Given the description of an element on the screen output the (x, y) to click on. 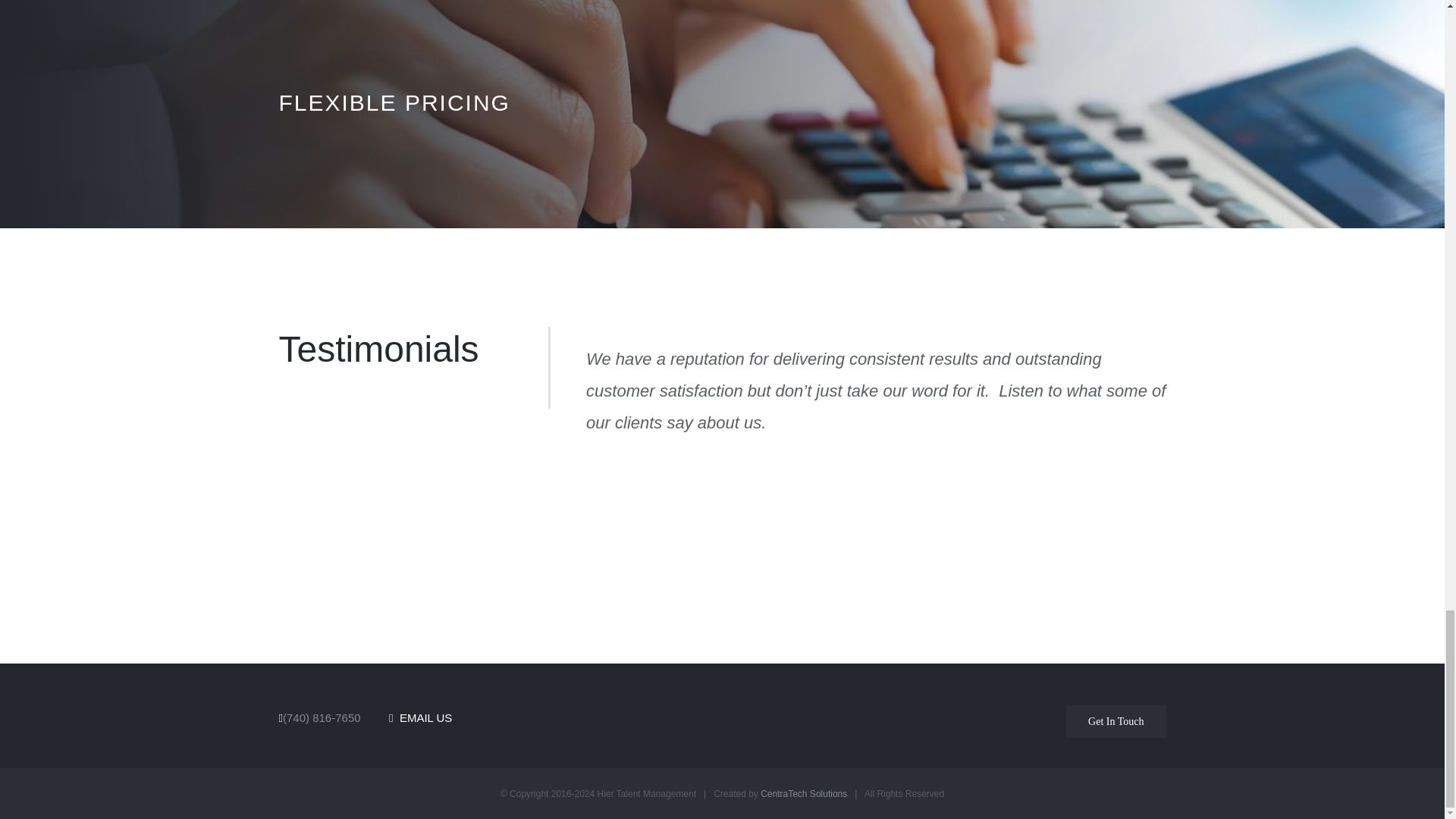
  EMAIL US (419, 717)
Get In Touch (1115, 721)
CentraTech Solutions (803, 793)
